Given the description of an element on the screen output the (x, y) to click on. 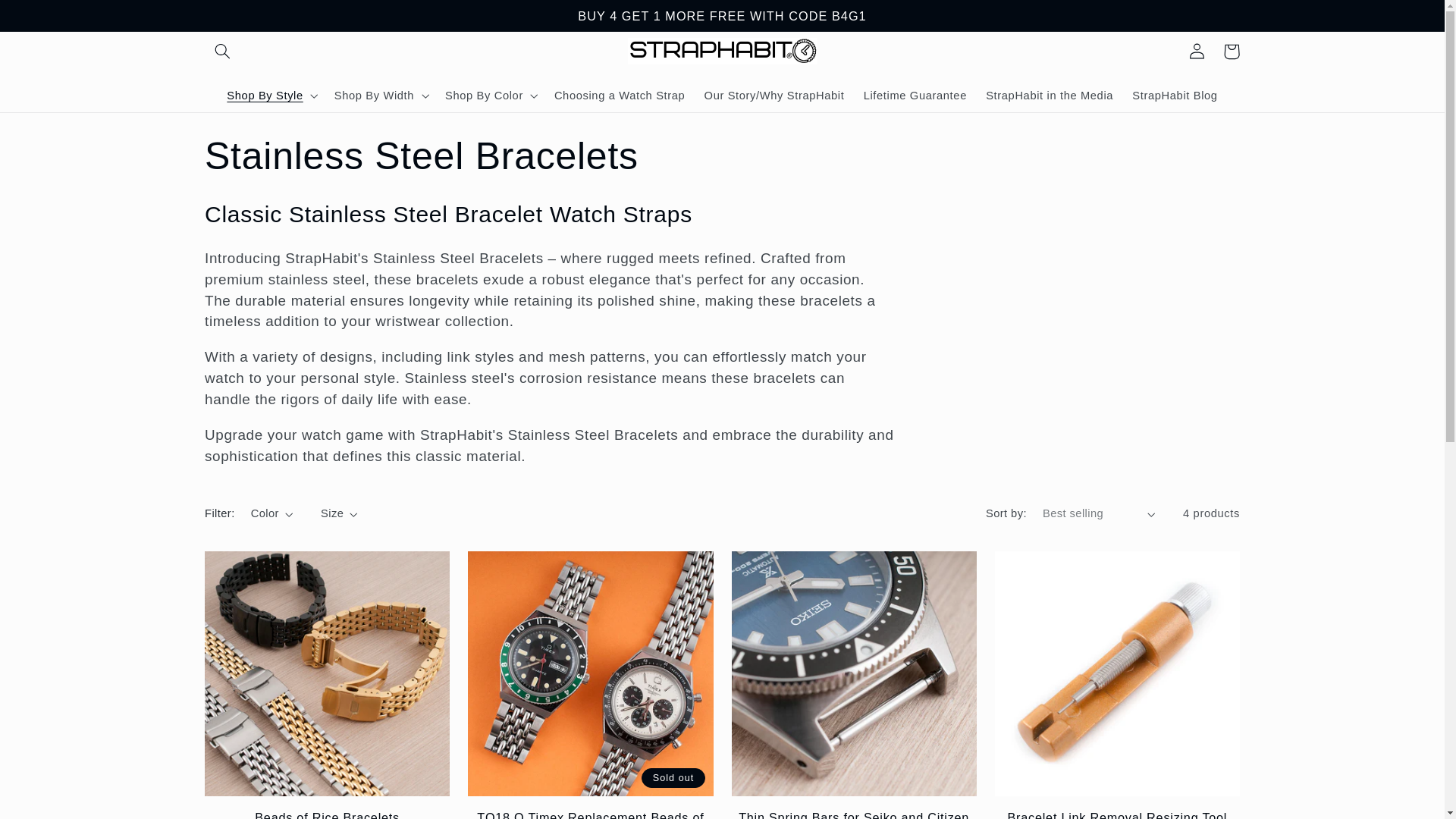
Skip to content (48, 18)
